Given the description of an element on the screen output the (x, y) to click on. 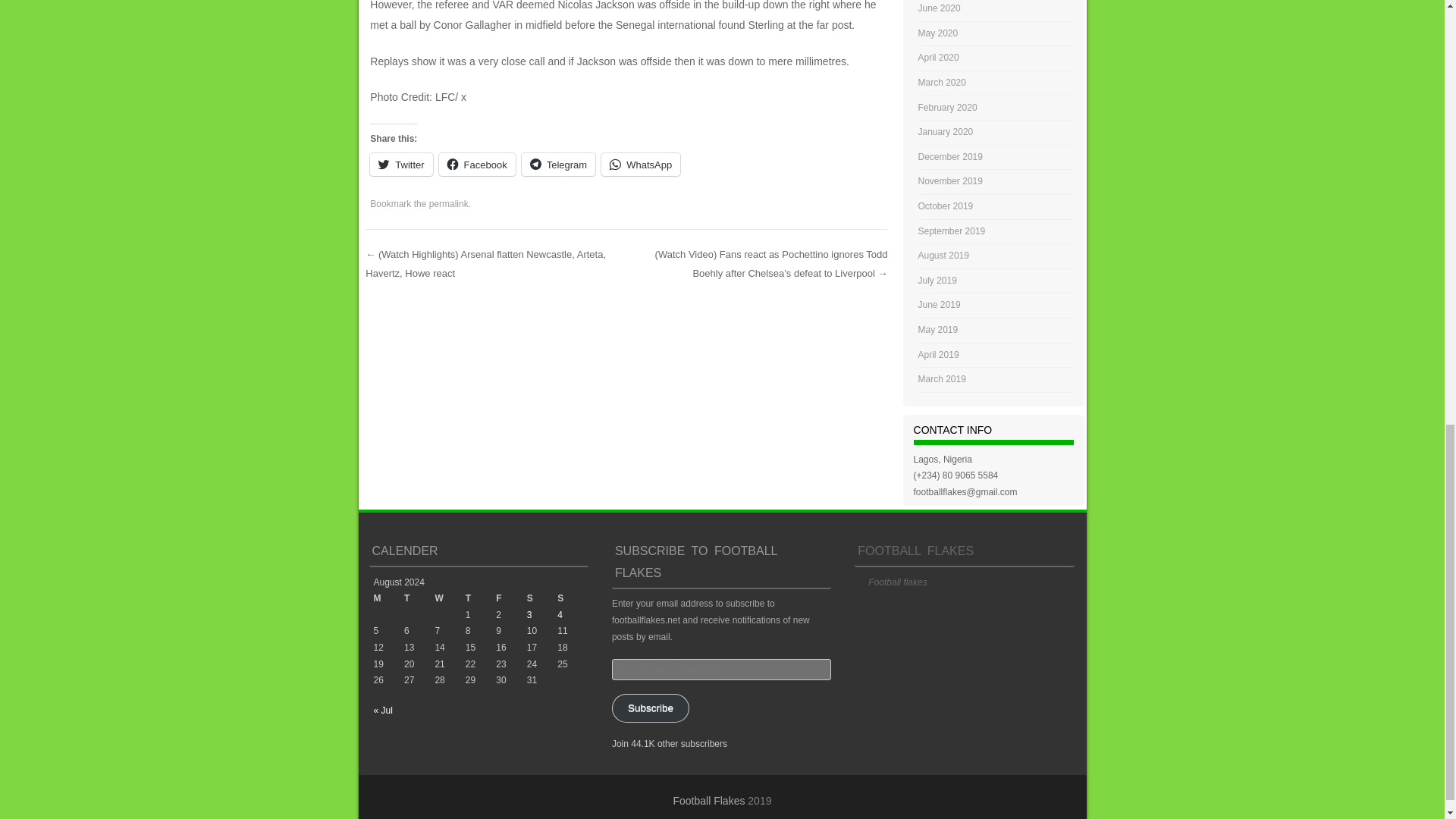
Facebook (477, 164)
Telegram (558, 164)
Wednesday (448, 598)
Click to share on Twitter (400, 164)
Monday (387, 598)
Twitter (400, 164)
Friday (510, 598)
WhatsApp (640, 164)
Click to share on WhatsApp (640, 164)
Thursday (480, 598)
